Given the description of an element on the screen output the (x, y) to click on. 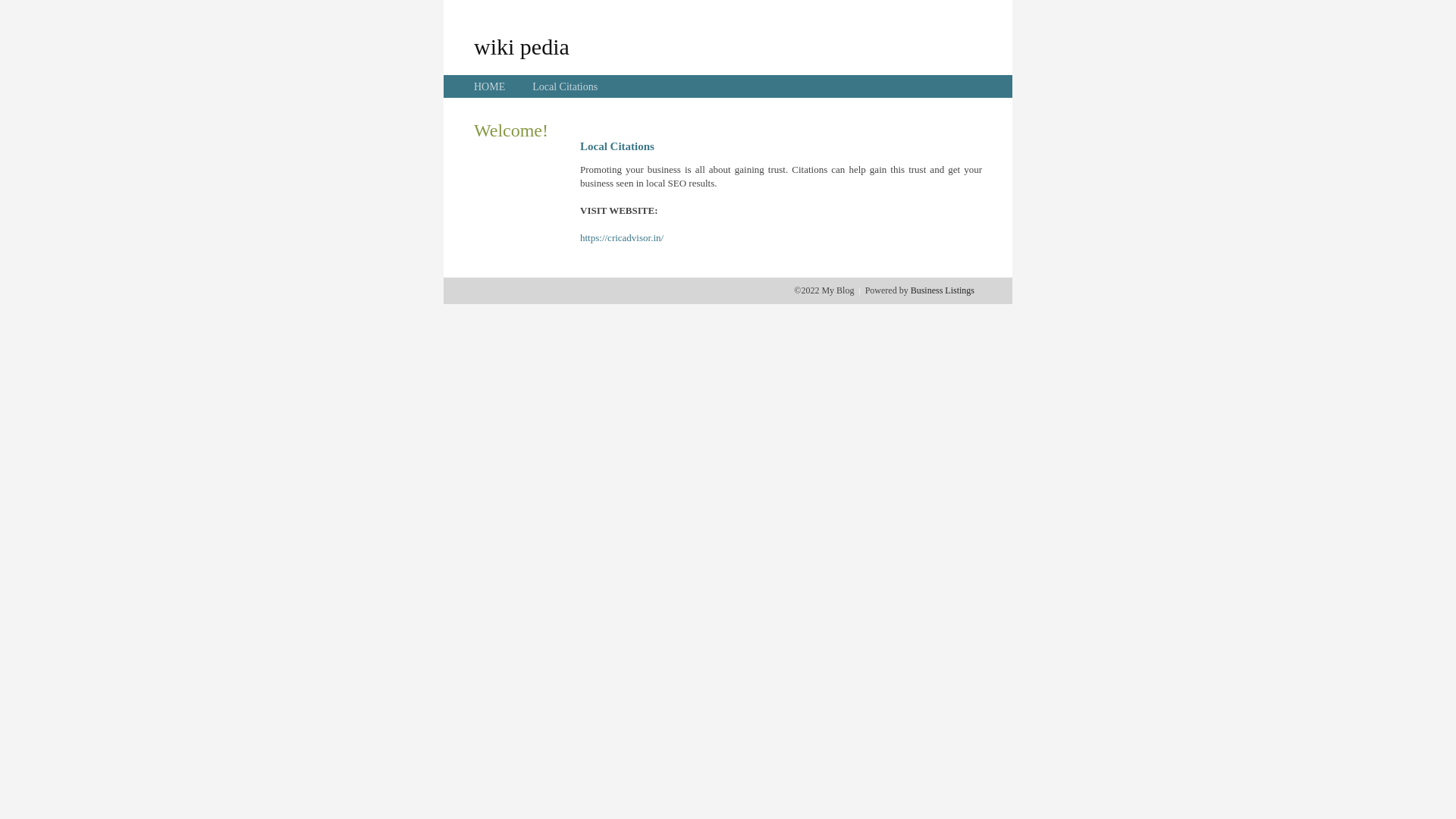
wiki pedia Element type: text (521, 46)
Local Citations Element type: text (564, 86)
HOME Element type: text (489, 86)
Business Listings Element type: text (942, 290)
https://cricadvisor.in/ Element type: text (621, 237)
